Given the description of an element on the screen output the (x, y) to click on. 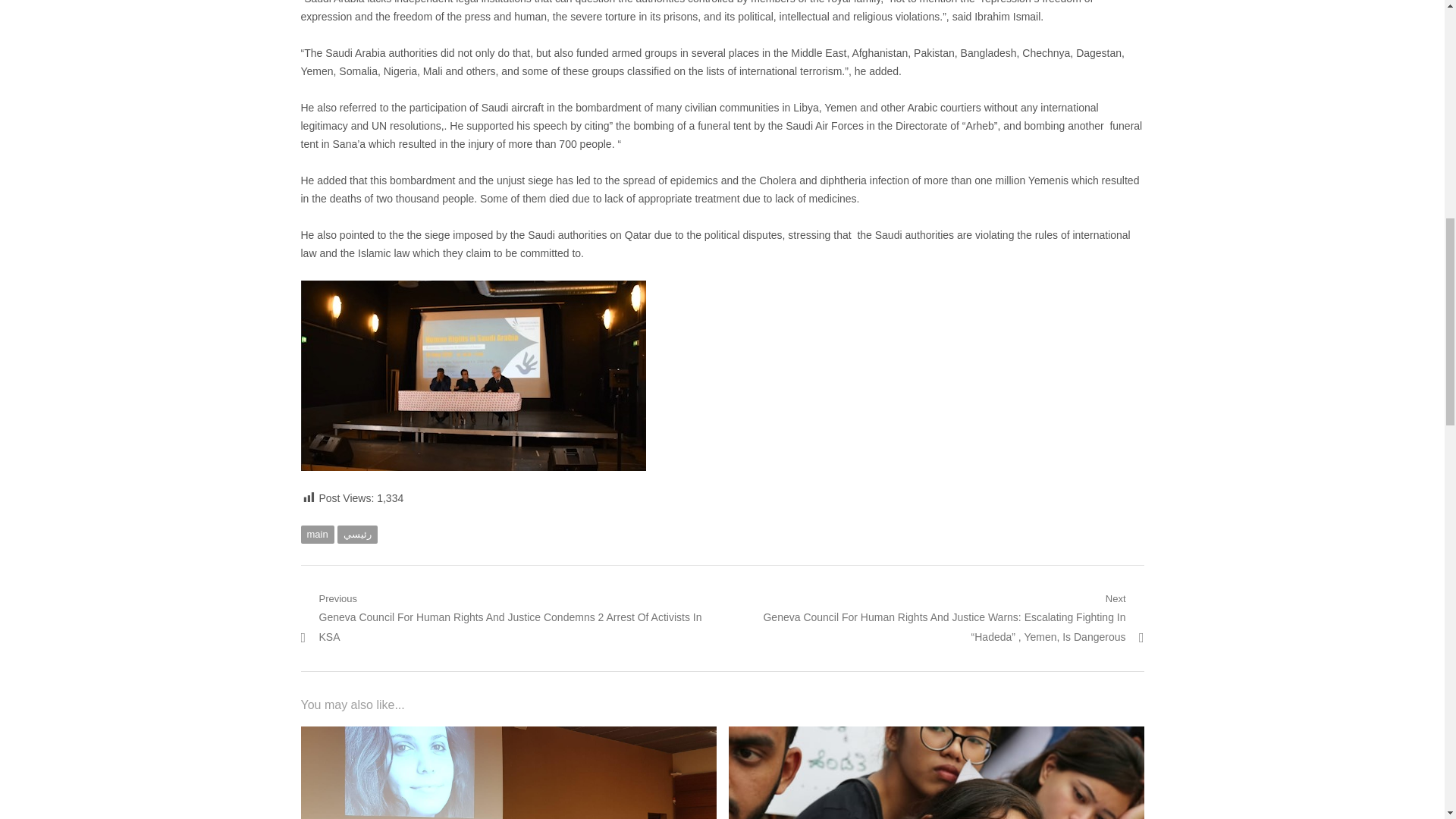
main (316, 534)
